Given the description of an element on the screen output the (x, y) to click on. 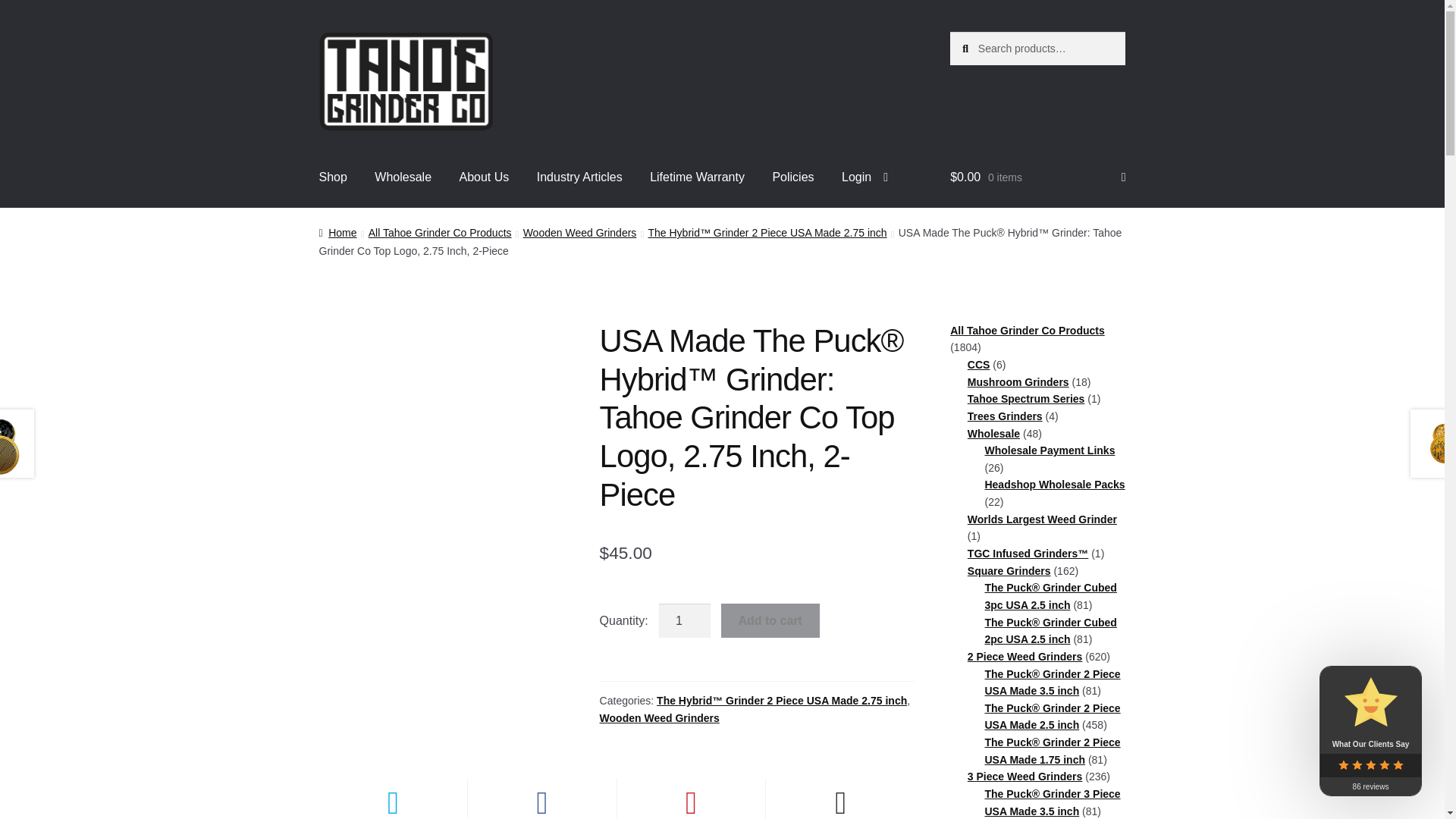
Lifetime Warranty (697, 177)
Share via Email (840, 798)
Add to cart (769, 620)
Home (337, 232)
About Us (483, 177)
Share on Twitter (392, 798)
Share on Facebook (541, 798)
Pin this product (691, 798)
View your shopping cart (1037, 177)
